Given the description of an element on the screen output the (x, y) to click on. 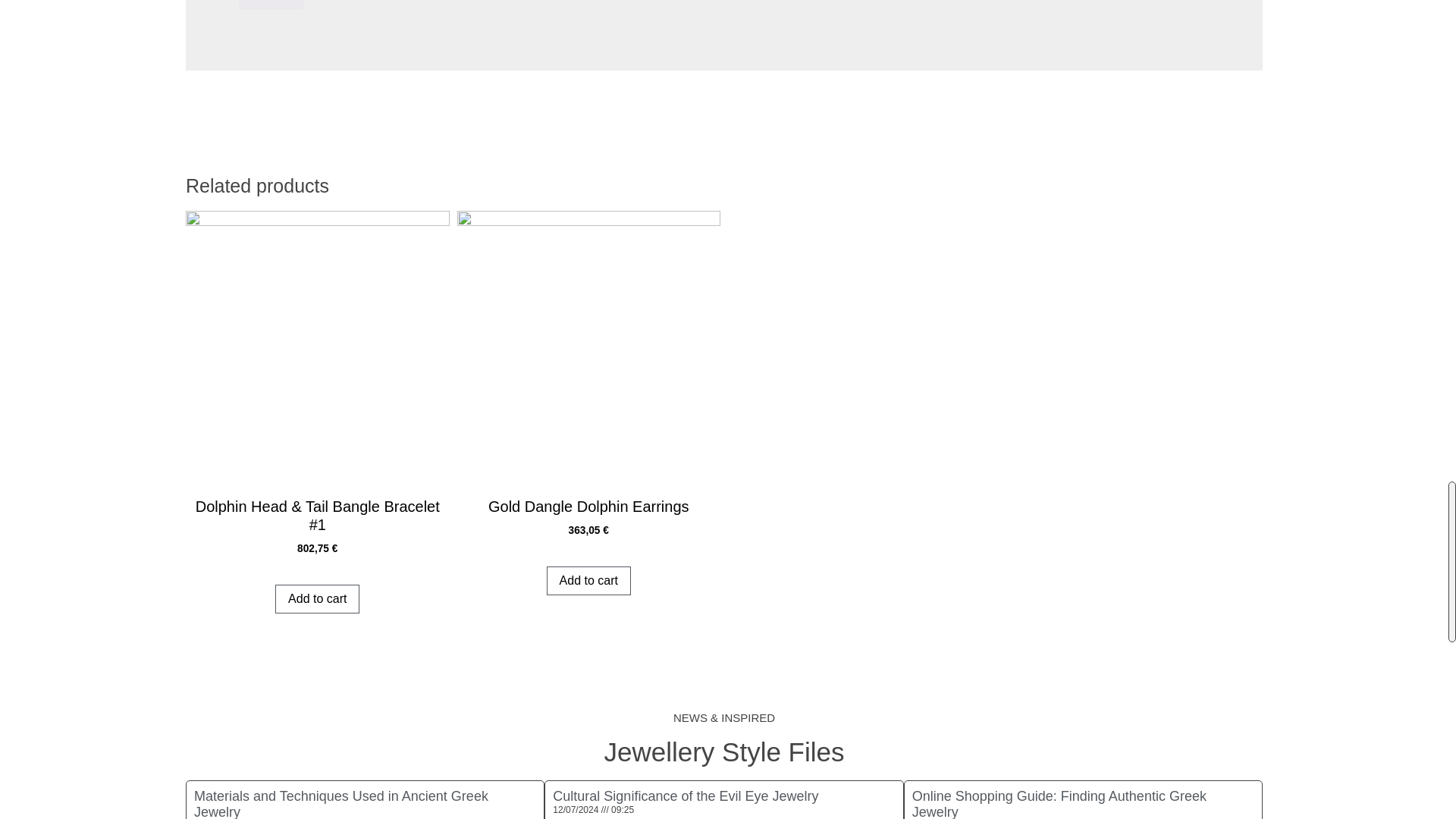
Submit (271, 4)
